Given the description of an element on the screen output the (x, y) to click on. 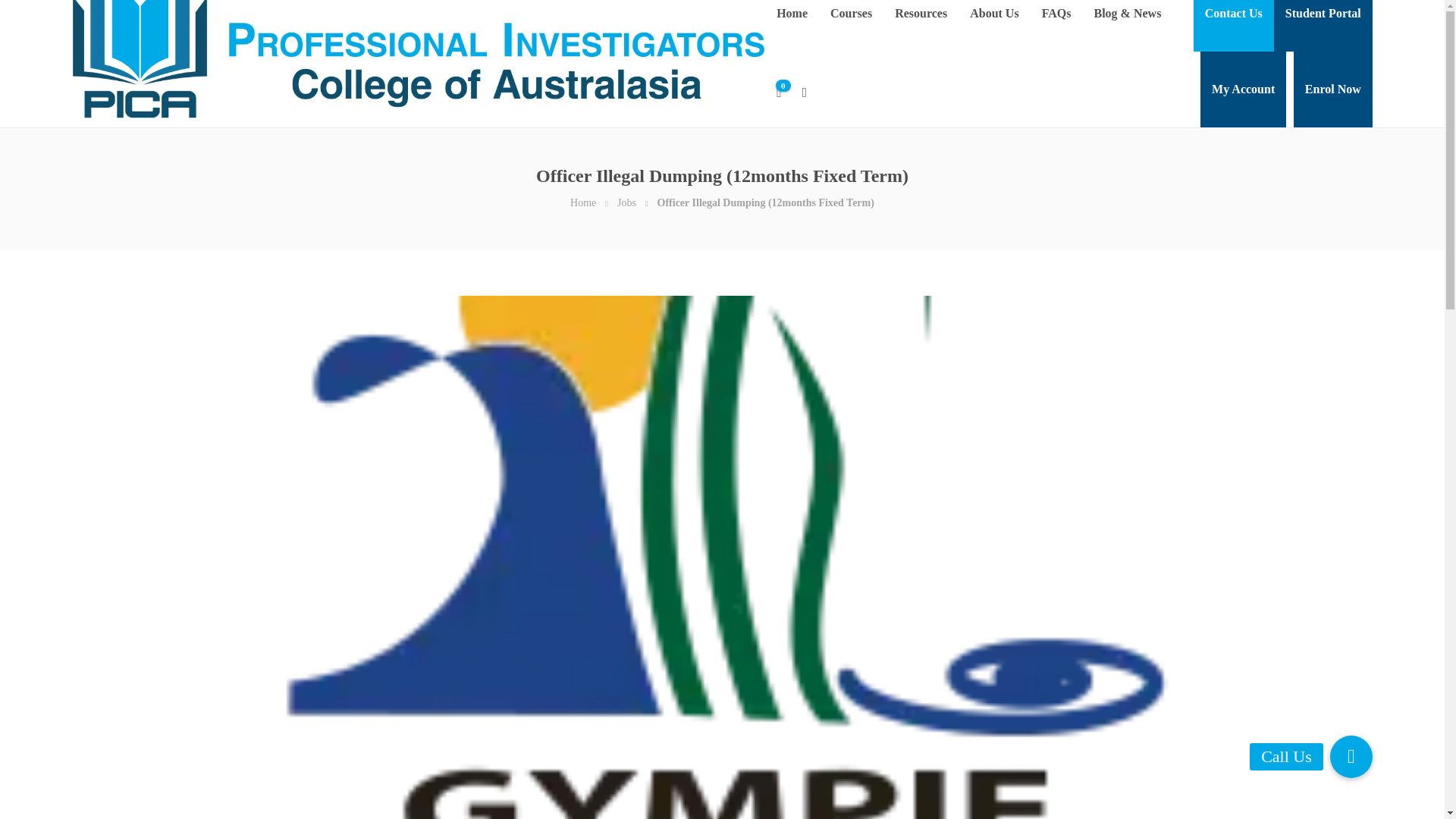
Jobs (626, 202)
Resources (921, 25)
Jobs (626, 202)
Home (582, 202)
Contact Us (1233, 25)
Student Portal (1323, 25)
Home (582, 202)
About Us (993, 25)
